Given the description of an element on the screen output the (x, y) to click on. 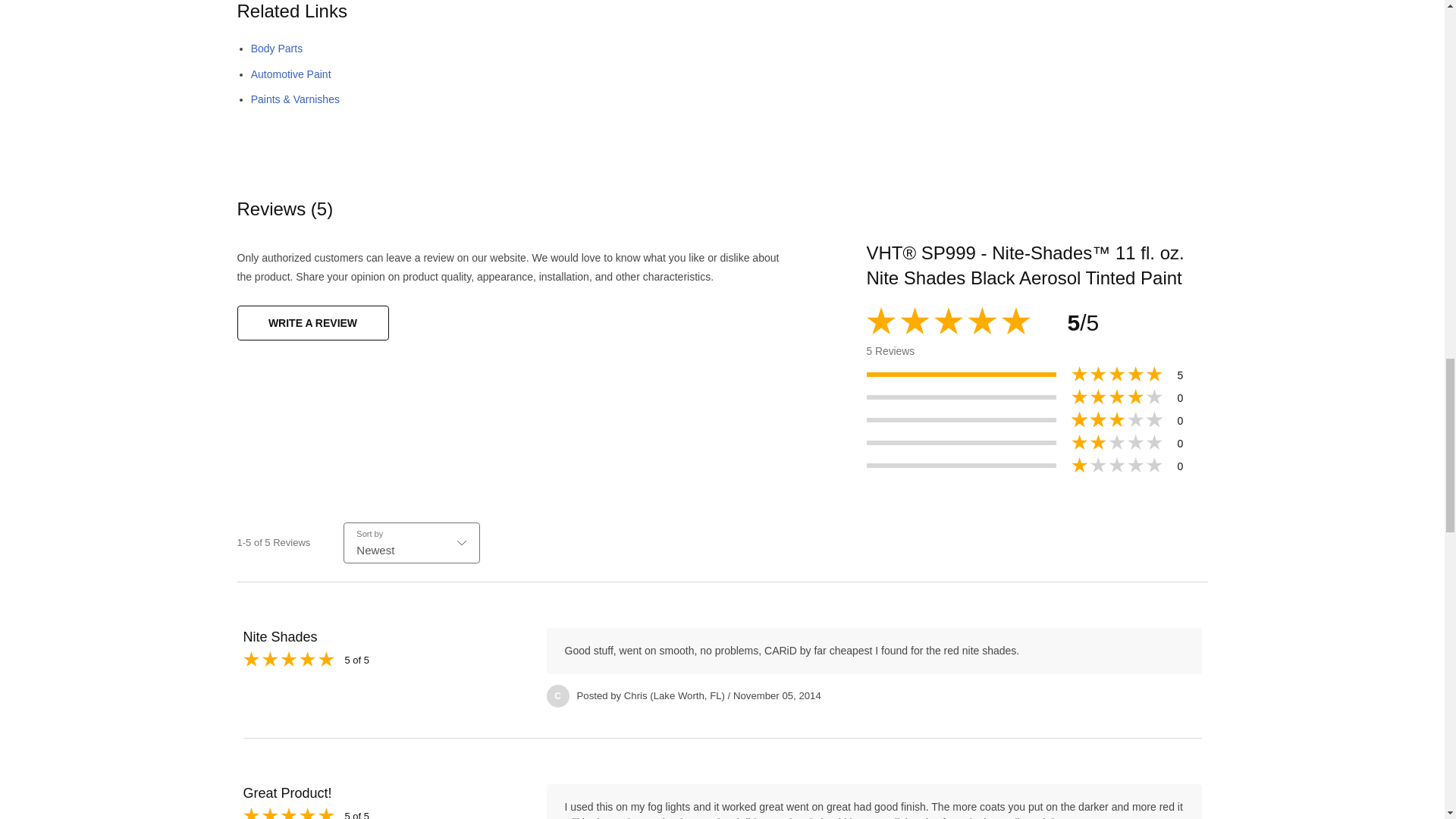
Automotive Paint (290, 73)
Body Parts (276, 48)
